Given the description of an element on the screen output the (x, y) to click on. 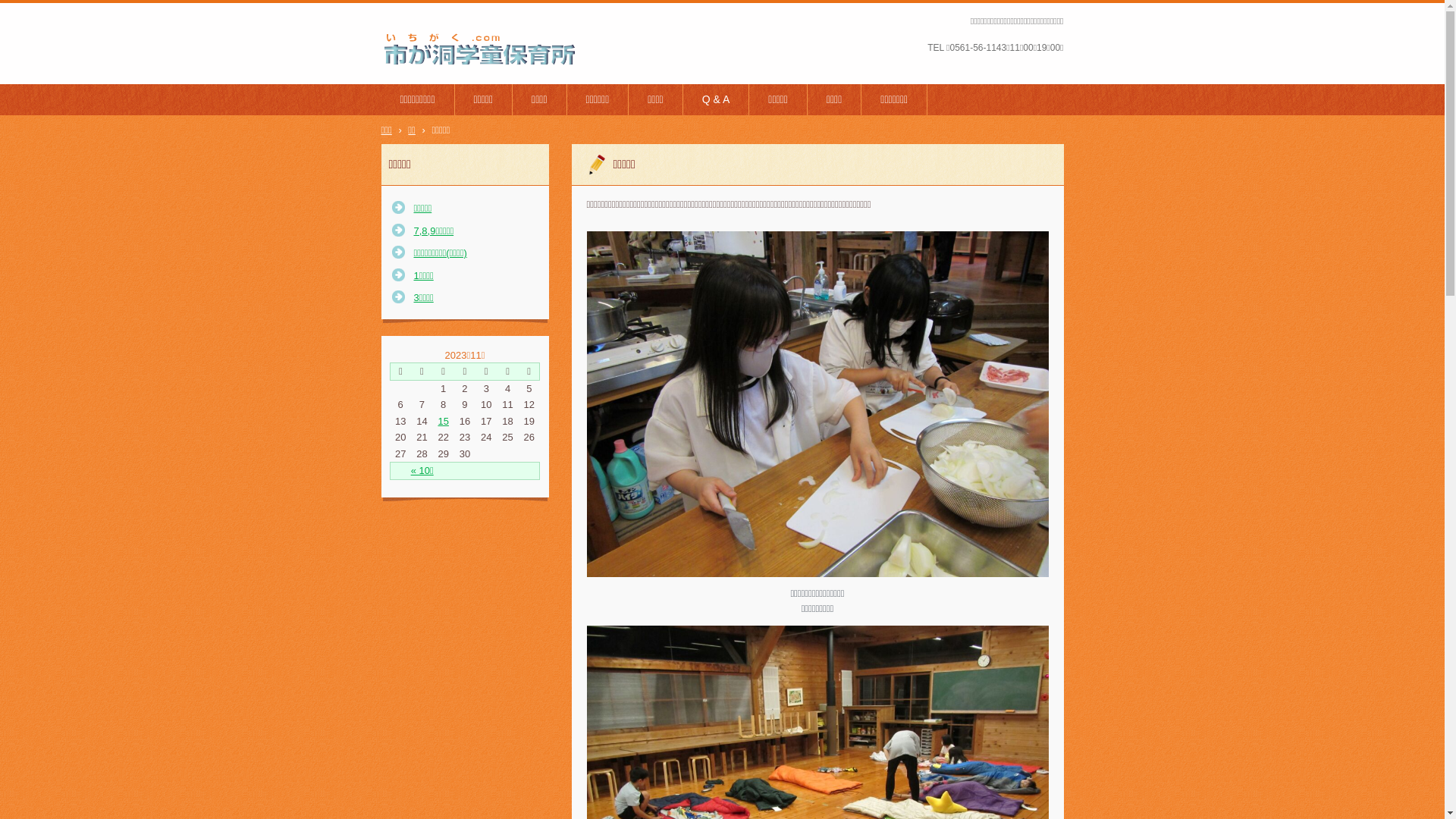
15 Element type: text (442, 420)
Q & A Element type: text (716, 99)
